Given the description of an element on the screen output the (x, y) to click on. 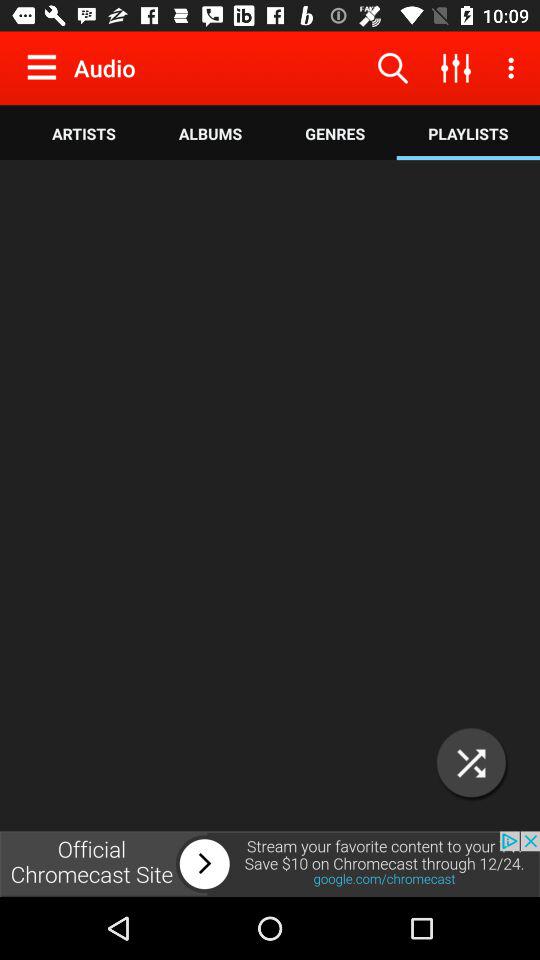
diskgrasan (270, 496)
